Given the description of an element on the screen output the (x, y) to click on. 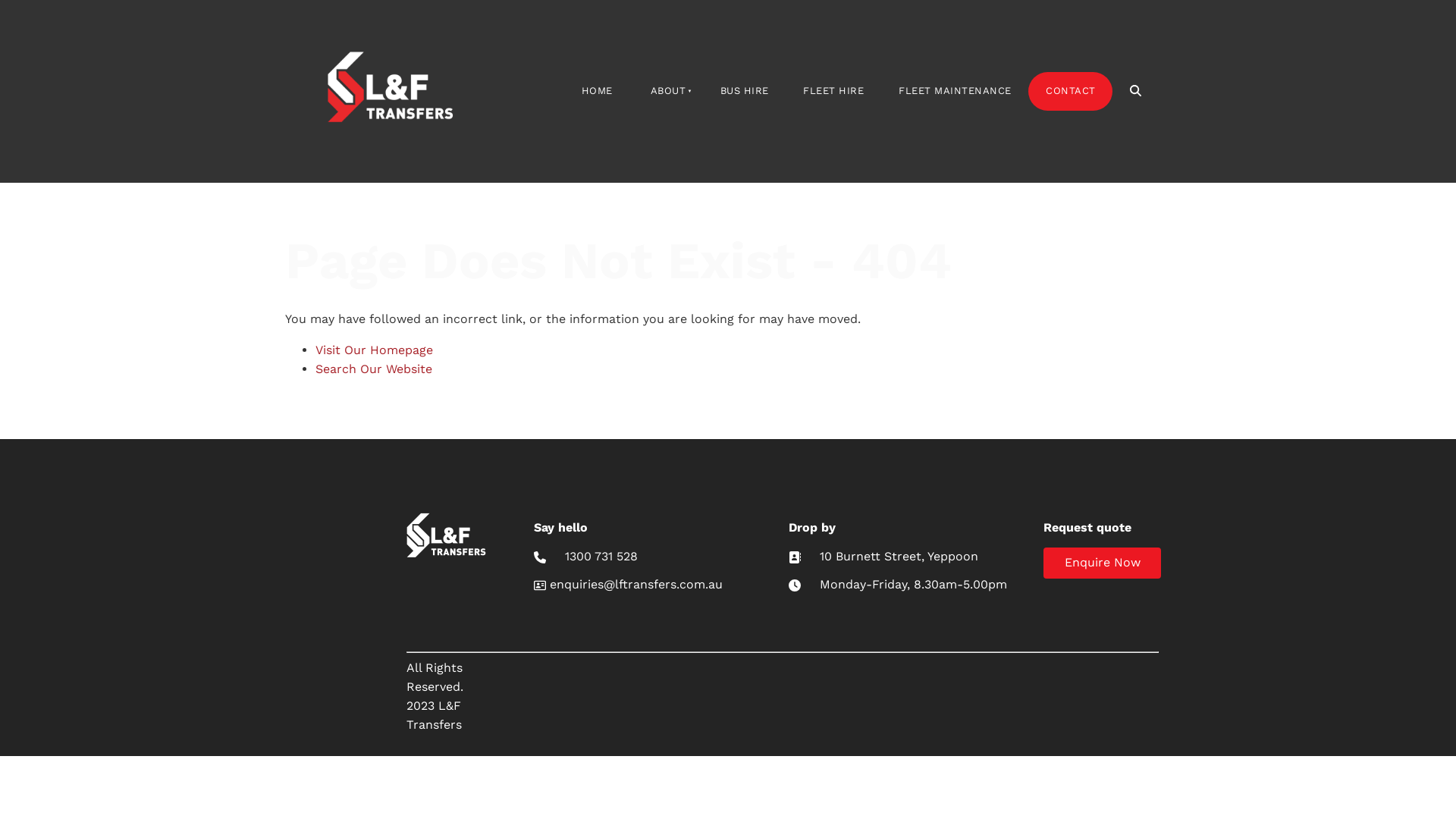
Search Our Website Element type: text (373, 368)
FLEET MAINTENANCE Element type: text (954, 91)
BUS HIRE Element type: text (744, 91)
HOME Element type: text (597, 91)
Enquire Now Element type: text (1102, 562)
Visit Our Homepage Element type: text (374, 349)
FLEET HIRE Element type: text (833, 91)
CONTACT Element type: text (1070, 91)
ABOUT Element type: text (666, 91)
1300 731 528 Element type: text (600, 556)
